Given the description of an element on the screen output the (x, y) to click on. 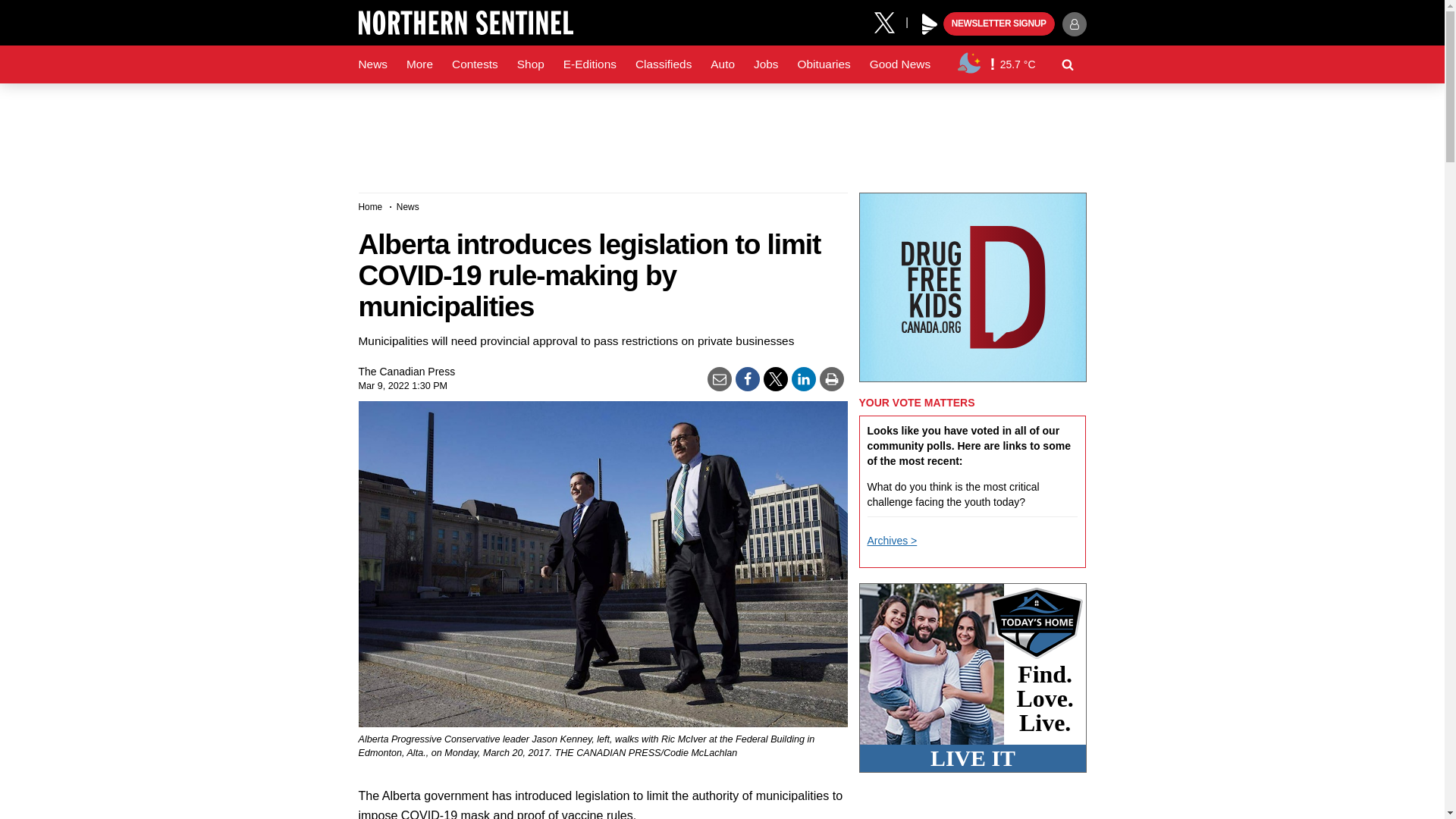
Weather alert (992, 64)
NEWSLETTER SIGNUP (998, 24)
3rd party ad content (721, 131)
X (889, 21)
News (372, 64)
Black Press Media (929, 24)
Play (929, 24)
